Given the description of an element on the screen output the (x, y) to click on. 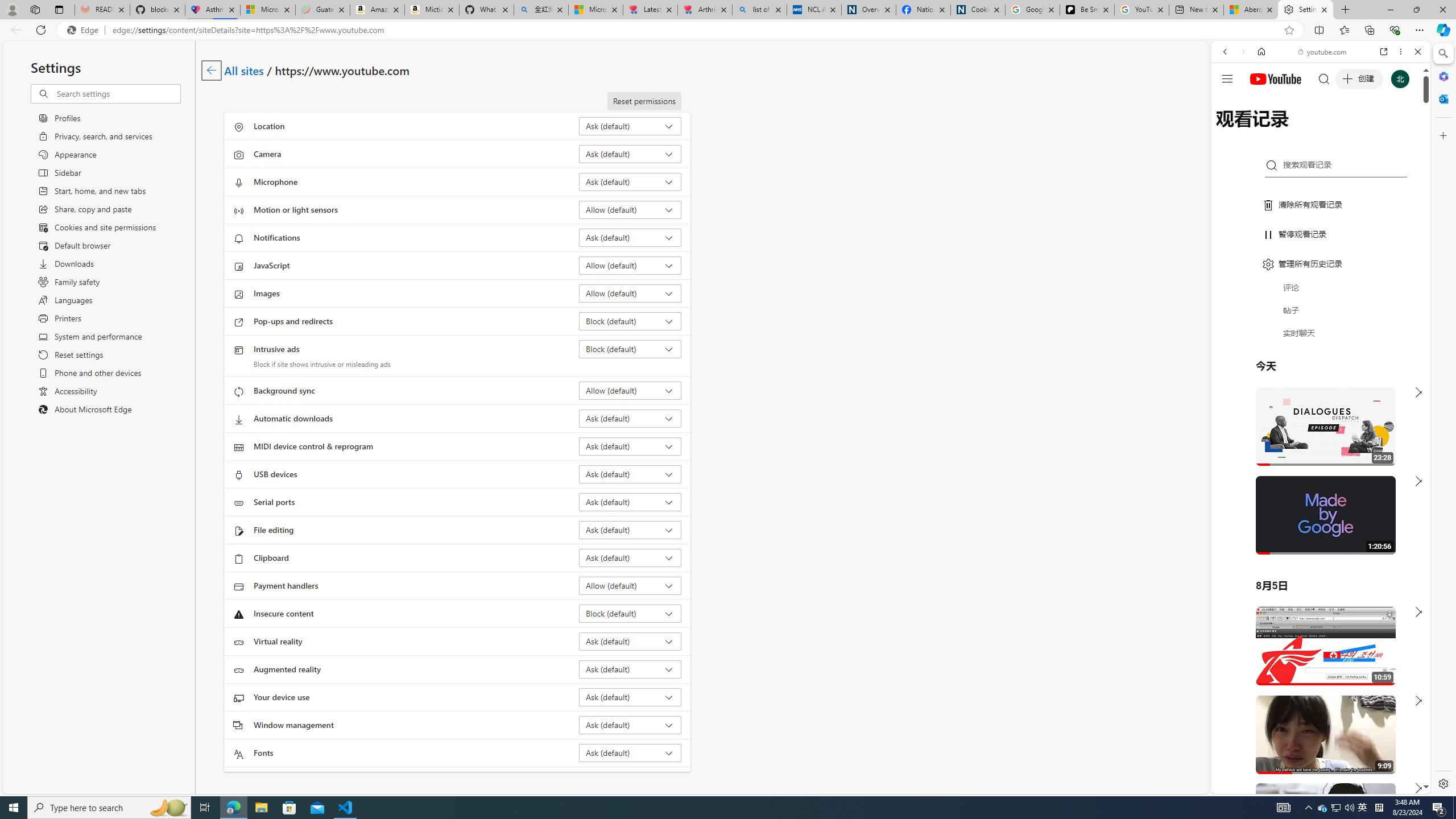
Your device use Ask (default) (630, 696)
Notifications Ask (default) (630, 237)
Fonts Ask (default) (630, 752)
Intrusive ads Block (default) (630, 348)
